Given the description of an element on the screen output the (x, y) to click on. 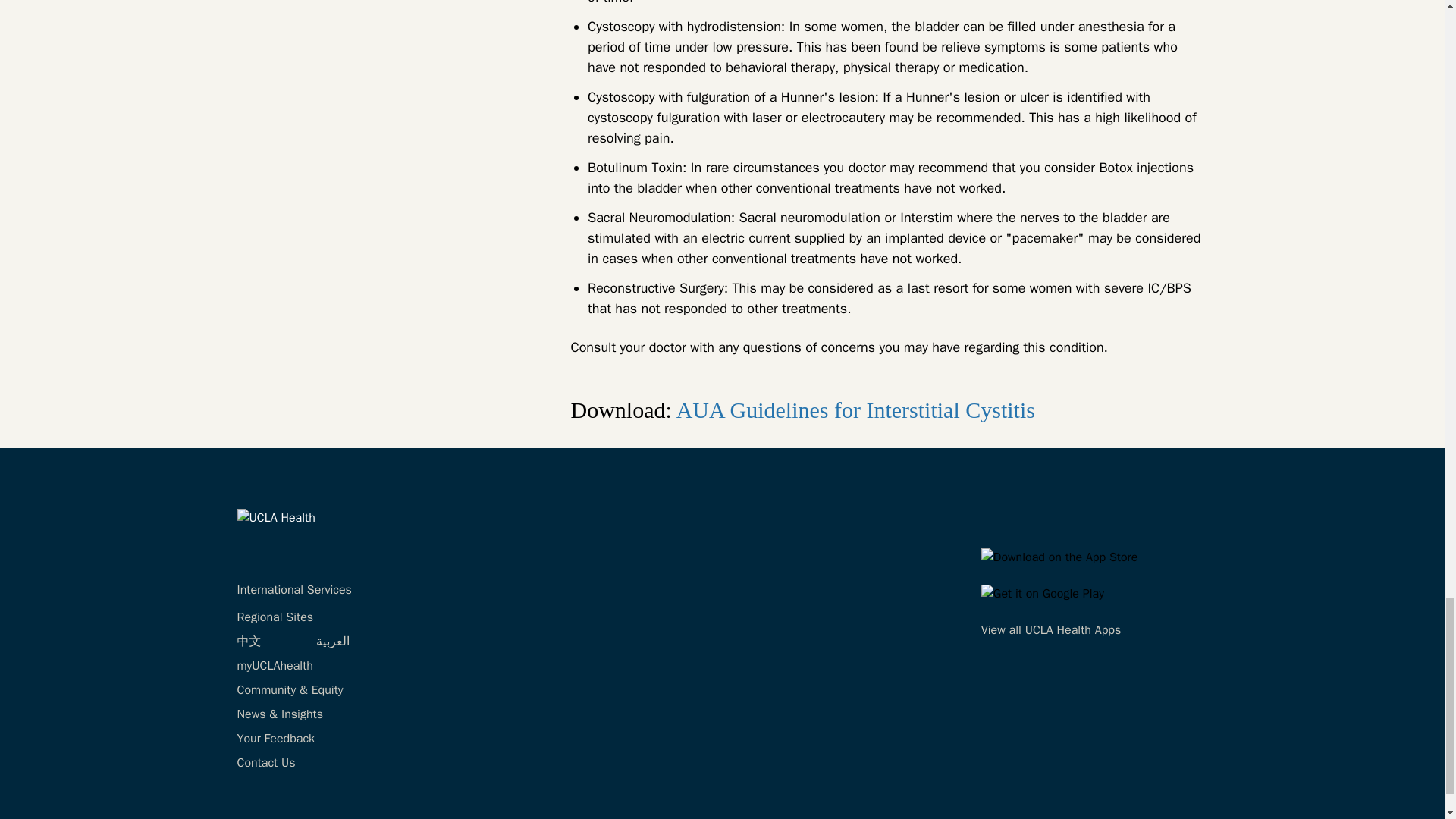
myUCLAhealth Login. (274, 665)
AUA Guidelines for Interstitial Cystitis PDF (856, 409)
